Given the description of an element on the screen output the (x, y) to click on. 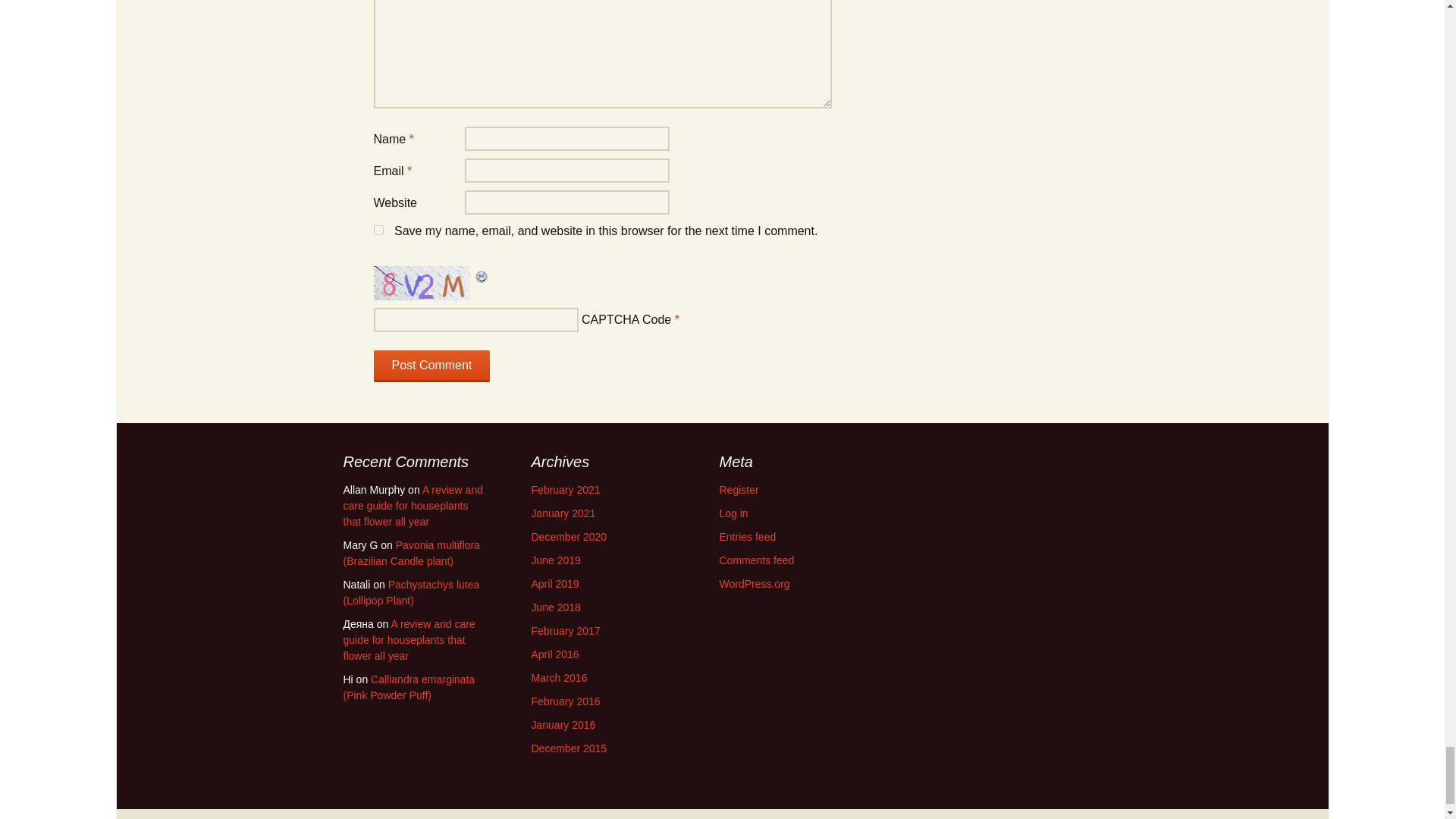
Refresh (481, 274)
Post Comment (430, 366)
yes (377, 230)
CAPTCHA (422, 283)
